Given the description of an element on the screen output the (x, y) to click on. 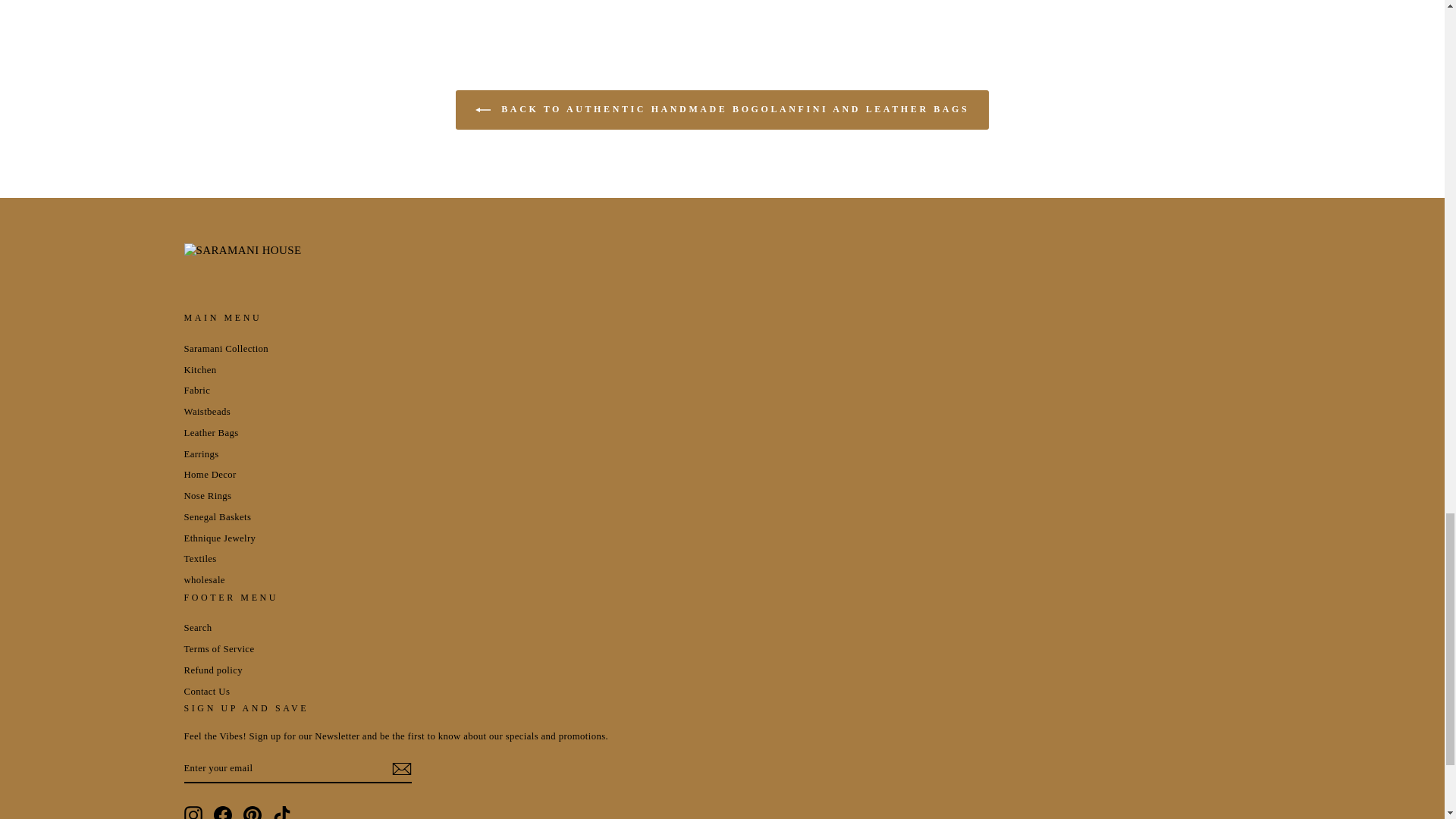
SARAMANI HOUSE  on Facebook (222, 812)
SARAMANI HOUSE  on Instagram (192, 812)
SARAMANI HOUSE  on Pinterest (251, 812)
SARAMANI HOUSE  on TikTok (282, 812)
